Given the description of an element on the screen output the (x, y) to click on. 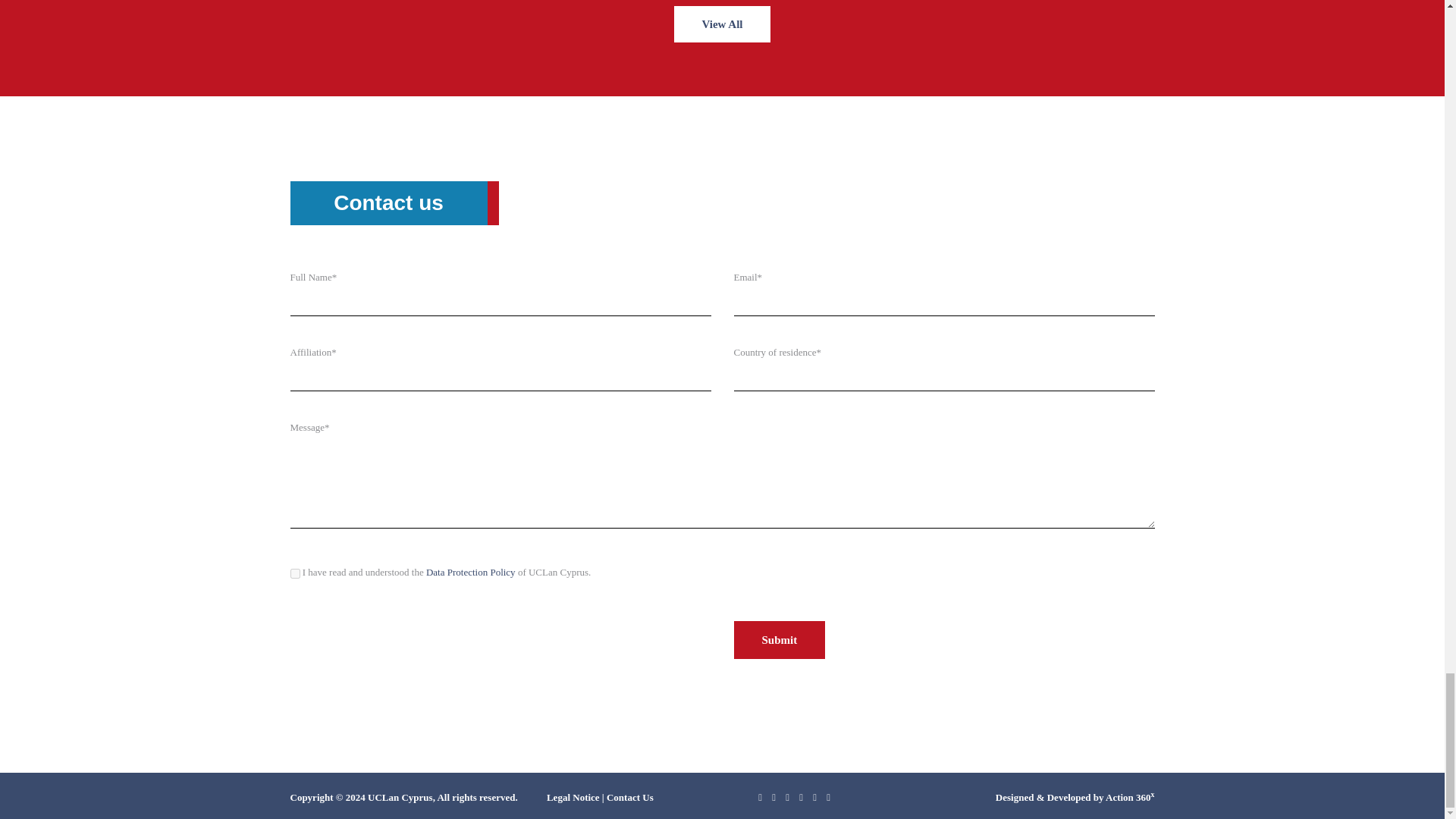
Submit (779, 639)
1 (294, 573)
